Given the description of an element on the screen output the (x, y) to click on. 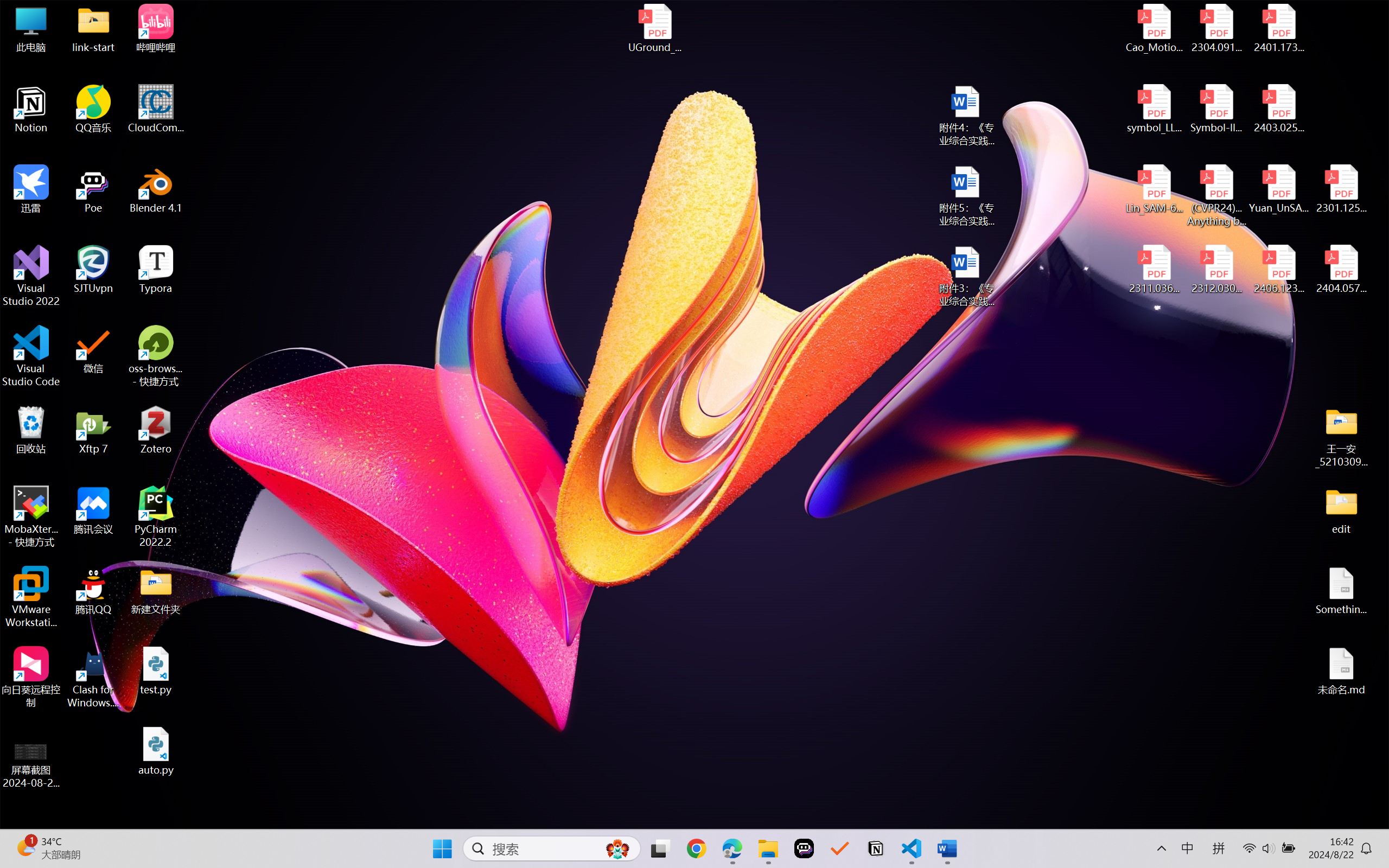
CloudCompare (156, 109)
Visual Studio 2022 (31, 276)
2404.05719v1.pdf (1340, 269)
2301.12597v3.pdf (1340, 189)
